Given the description of an element on the screen output the (x, y) to click on. 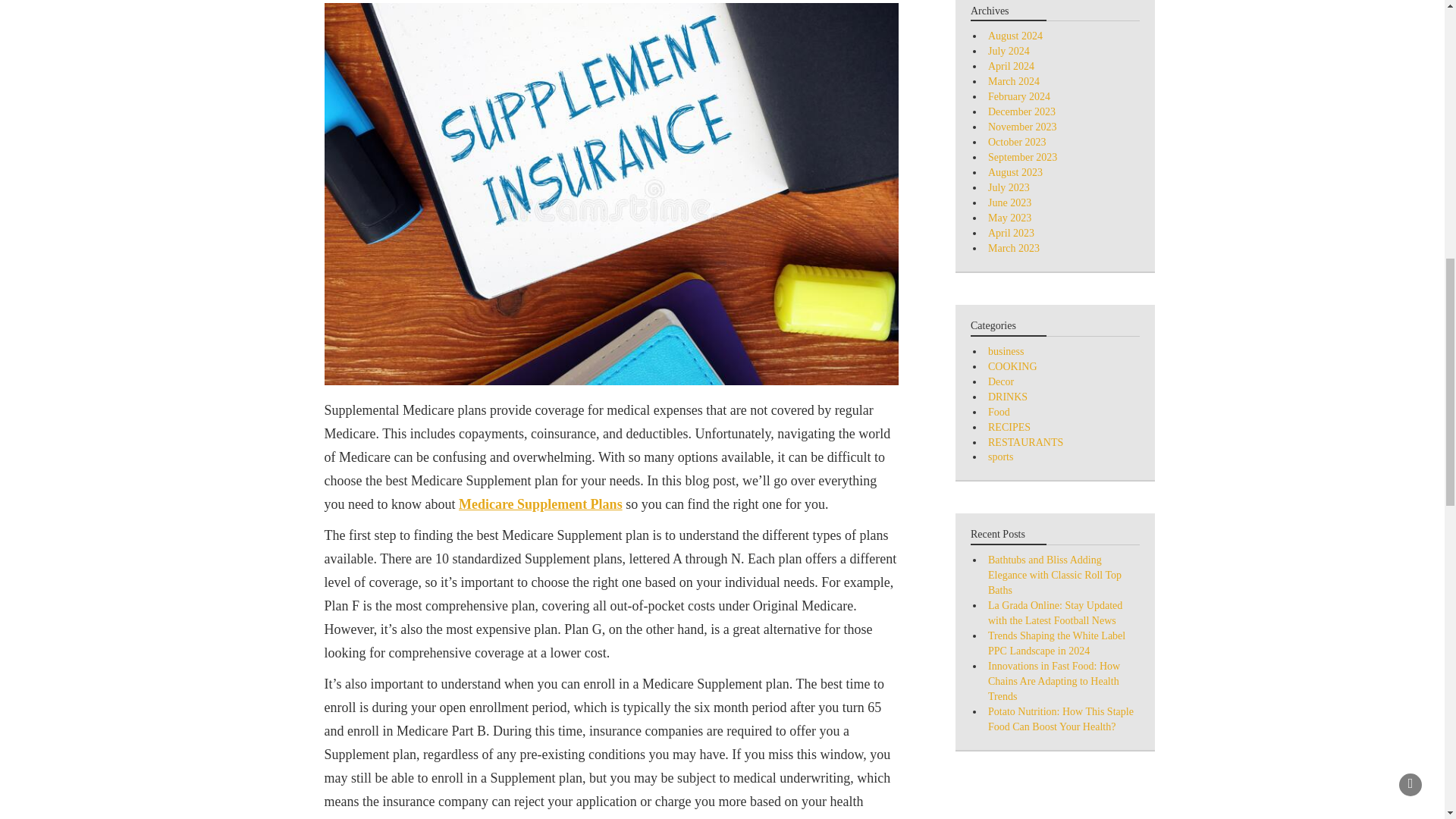
October 2023 (1017, 142)
May 2023 (1009, 217)
November 2023 (1022, 126)
August 2024 (1015, 35)
August 2023 (1015, 172)
June 2023 (1009, 202)
February 2024 (1018, 96)
March 2024 (1013, 81)
July 2024 (1008, 50)
September 2023 (1022, 156)
